Given the description of an element on the screen output the (x, y) to click on. 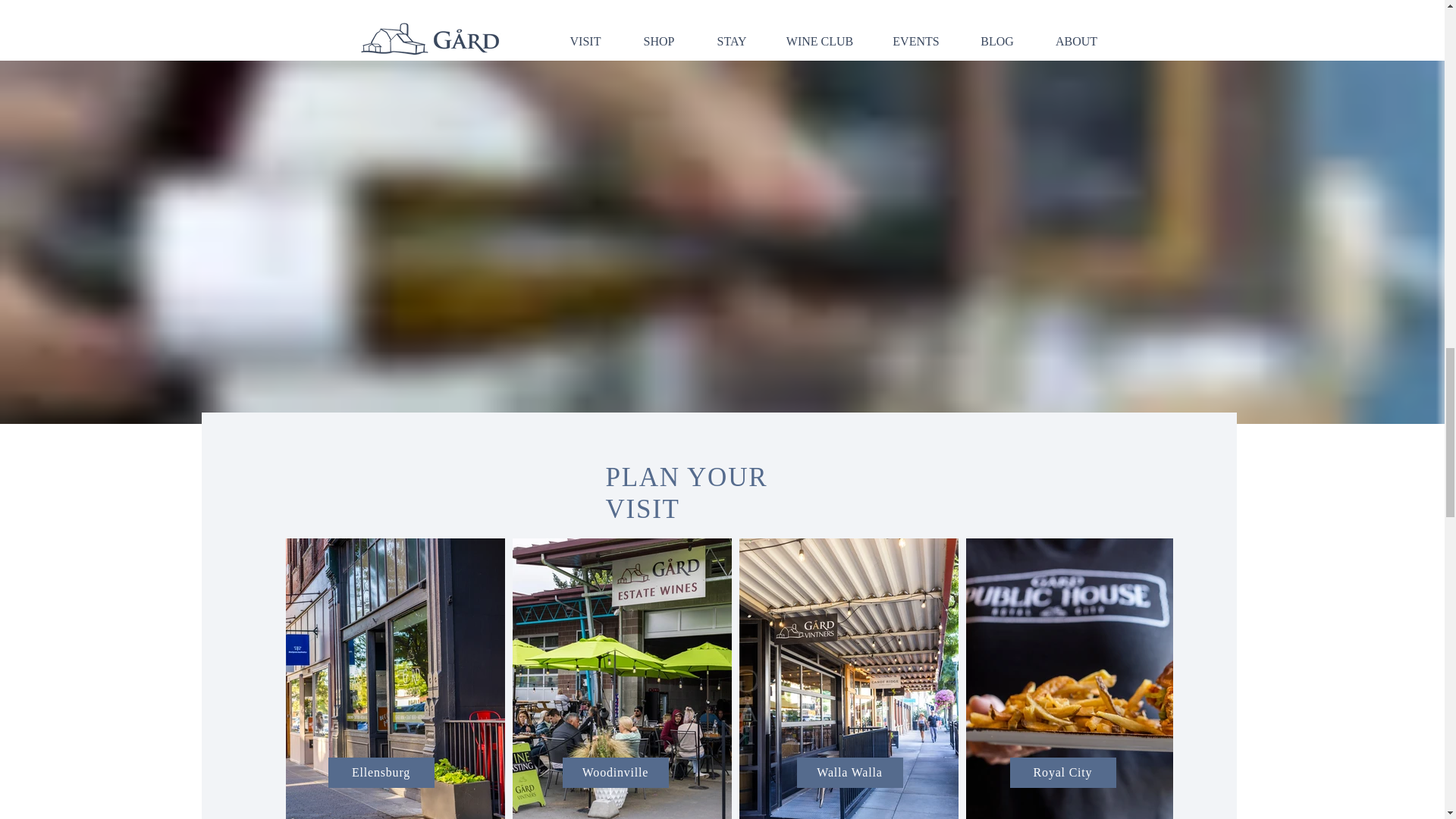
Walla Walla (849, 772)
Woodinville (615, 772)
Ellensburg (380, 772)
Royal City (1063, 772)
